Given the description of an element on the screen output the (x, y) to click on. 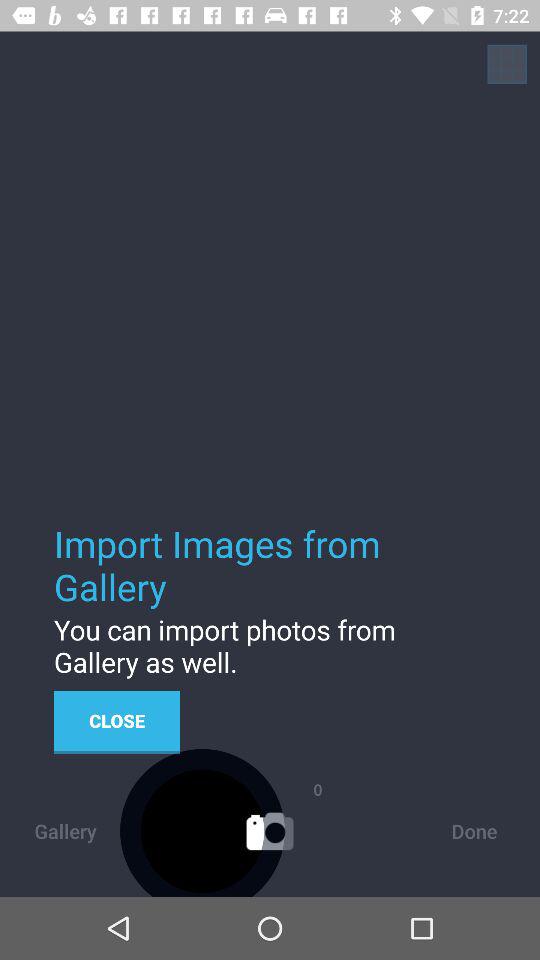
switch camera (507, 64)
